Given the description of an element on the screen output the (x, y) to click on. 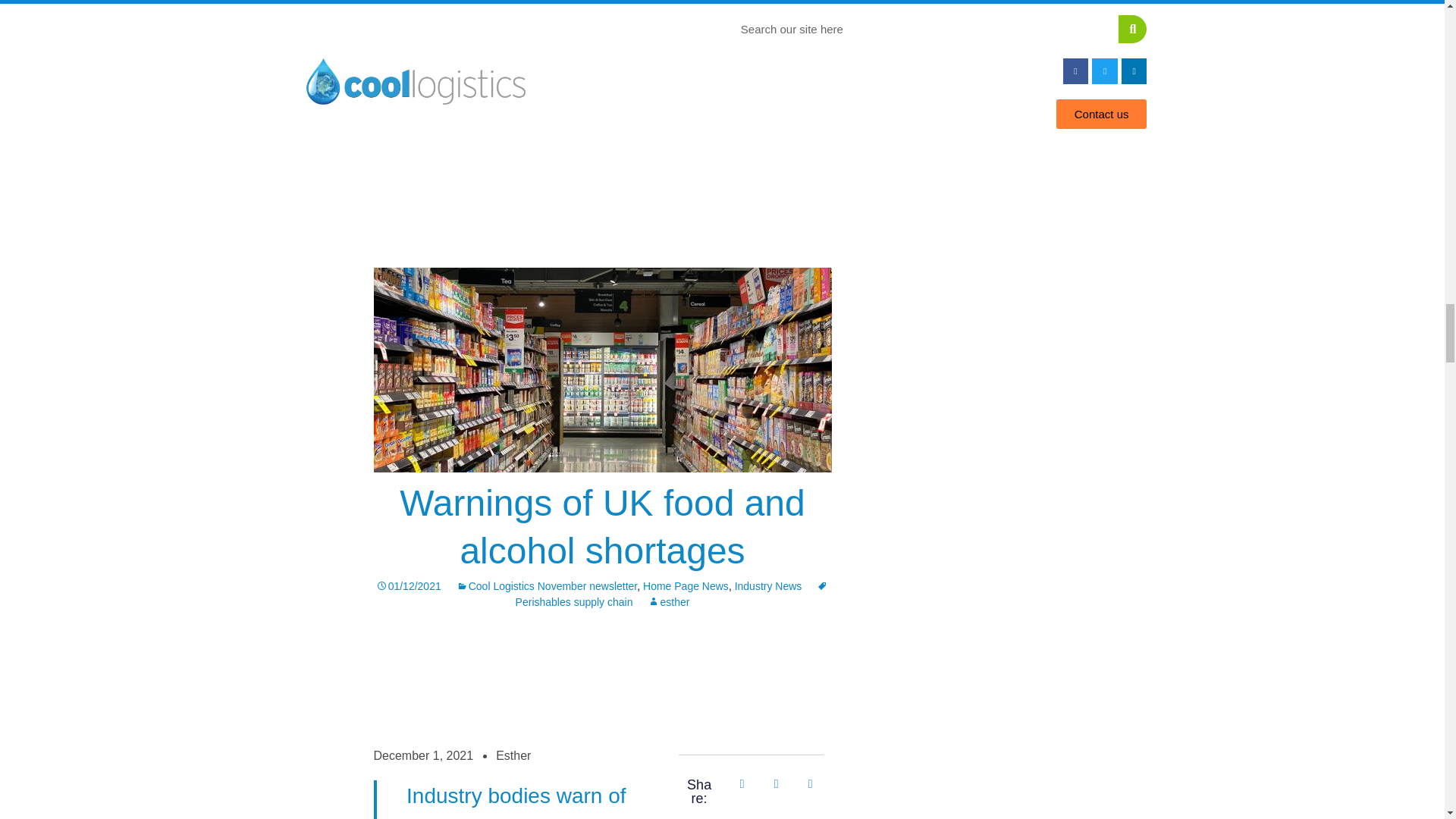
View all posts by esther (667, 602)
Permalink to Warnings of UK food and alcohol shortages (408, 585)
